Given the description of an element on the screen output the (x, y) to click on. 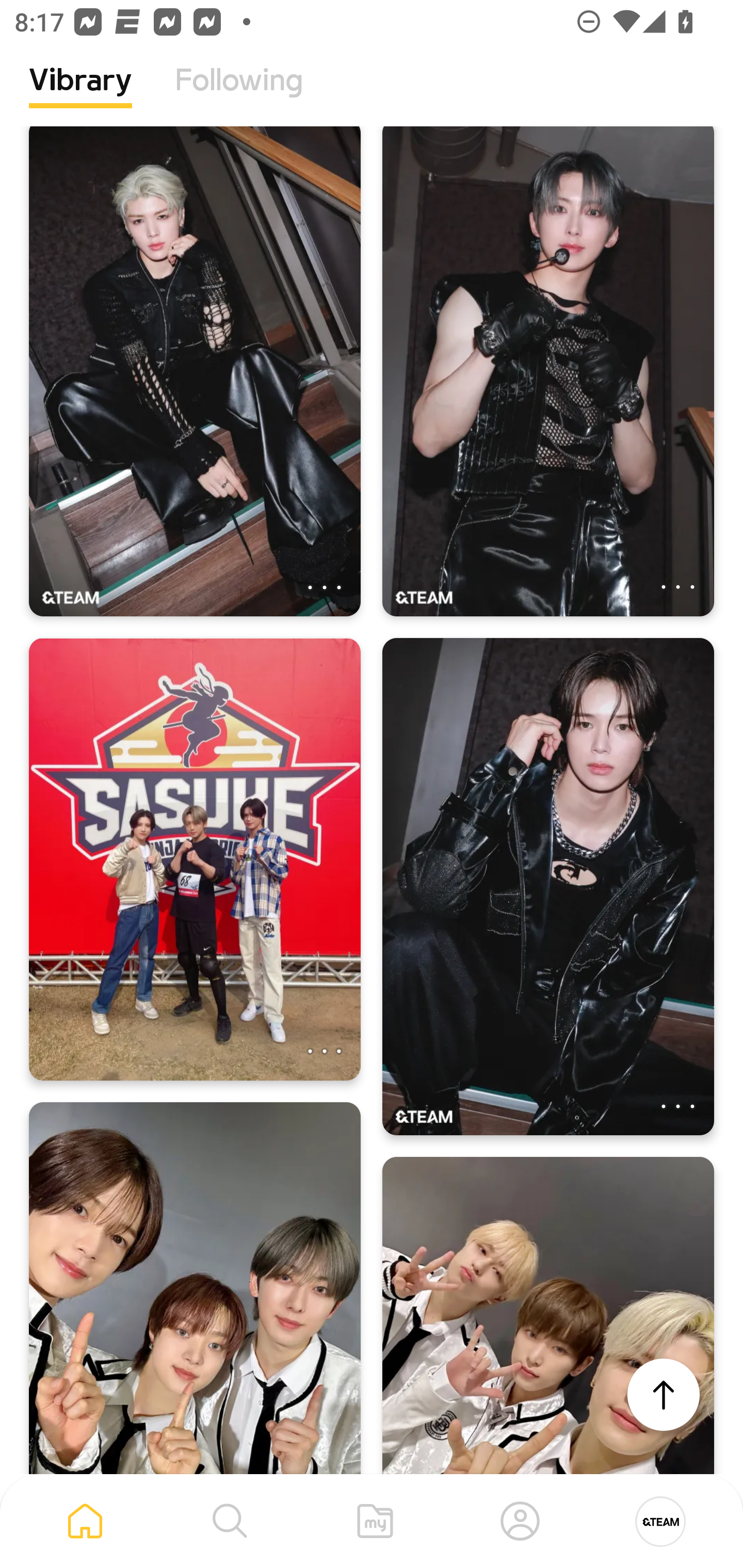
Vibrary (80, 95)
Following (239, 95)
